Given the description of an element on the screen output the (x, y) to click on. 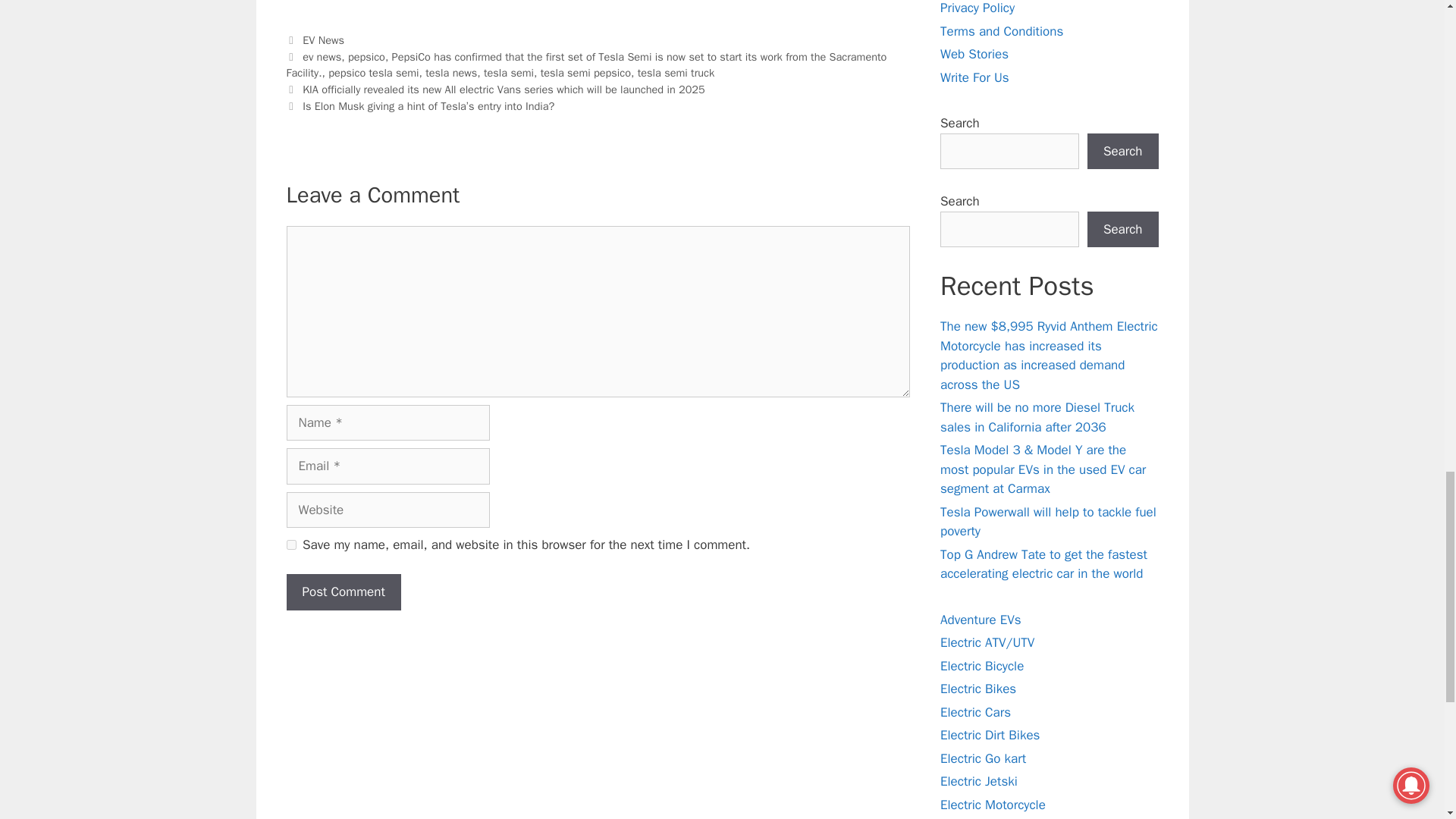
yes (291, 544)
Post Comment (343, 592)
